Given the description of an element on the screen output the (x, y) to click on. 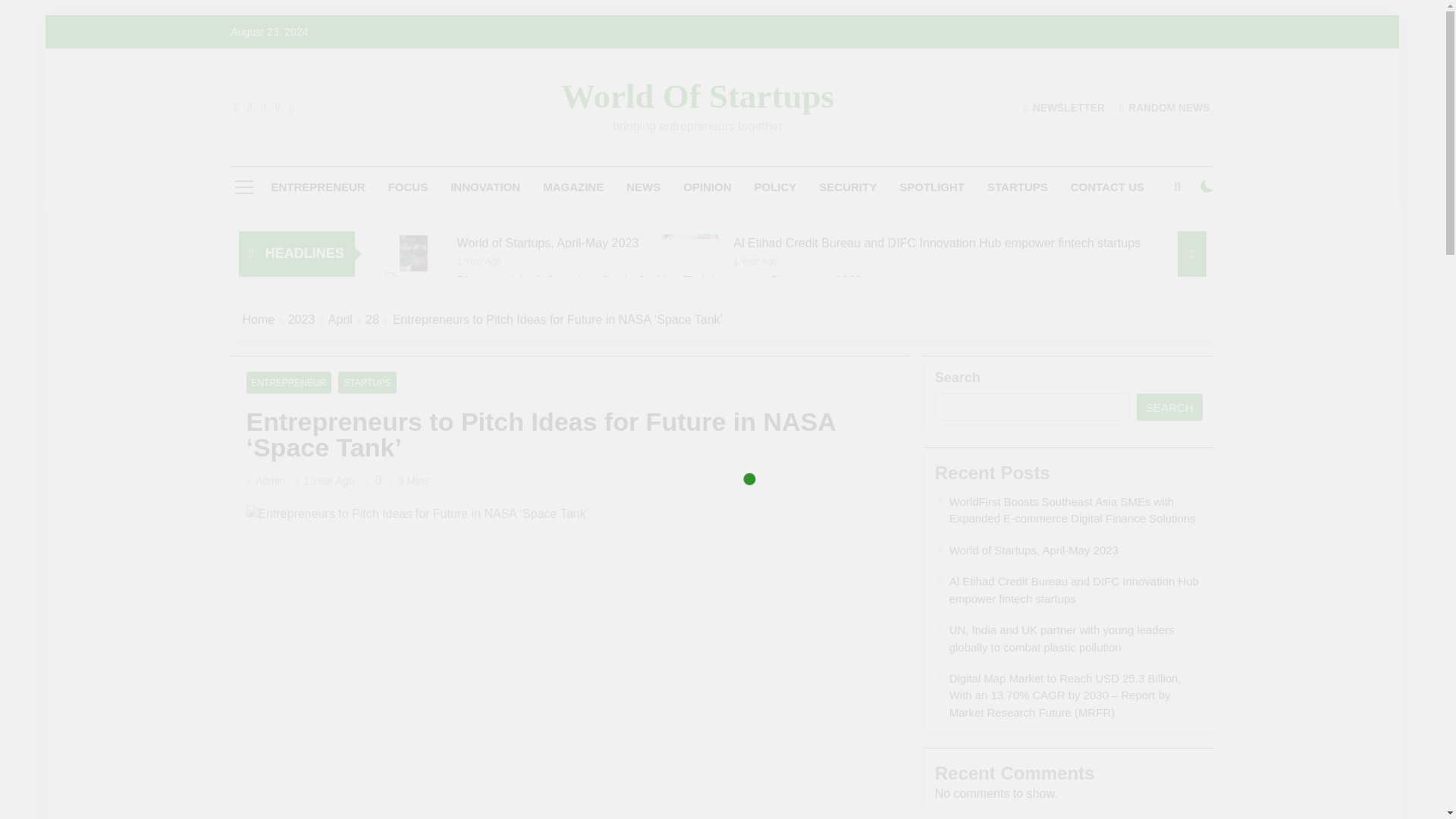
World of Startups, April-May 2023 (413, 252)
on (1206, 186)
POLICY (775, 187)
SECURITY (848, 187)
OPINION (706, 187)
RANDOM NEWS (1164, 106)
NEWS (642, 187)
ENTREPRENEUR (318, 187)
